Given the description of an element on the screen output the (x, y) to click on. 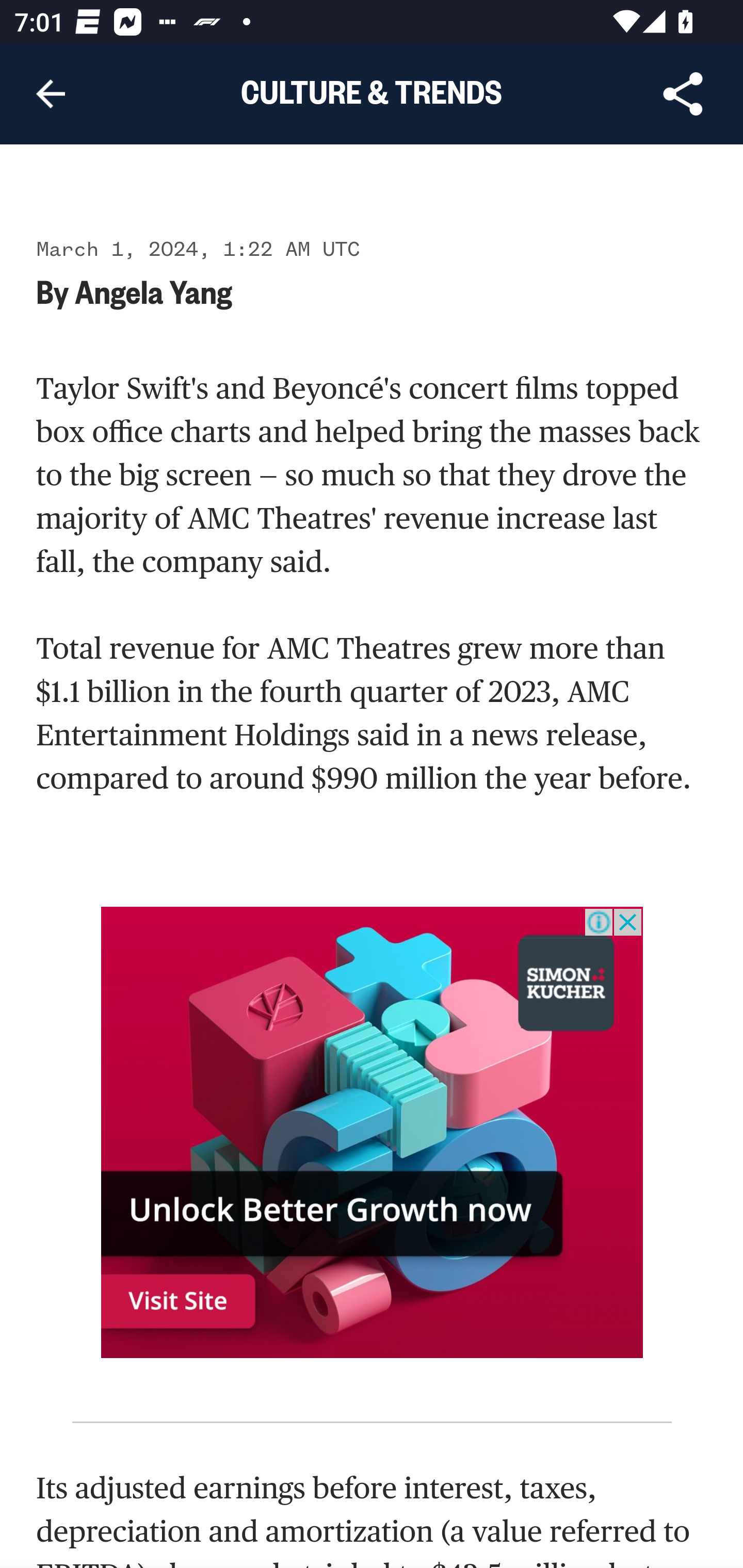
Navigate up (50, 93)
Share Article, button (683, 94)
